Given the description of an element on the screen output the (x, y) to click on. 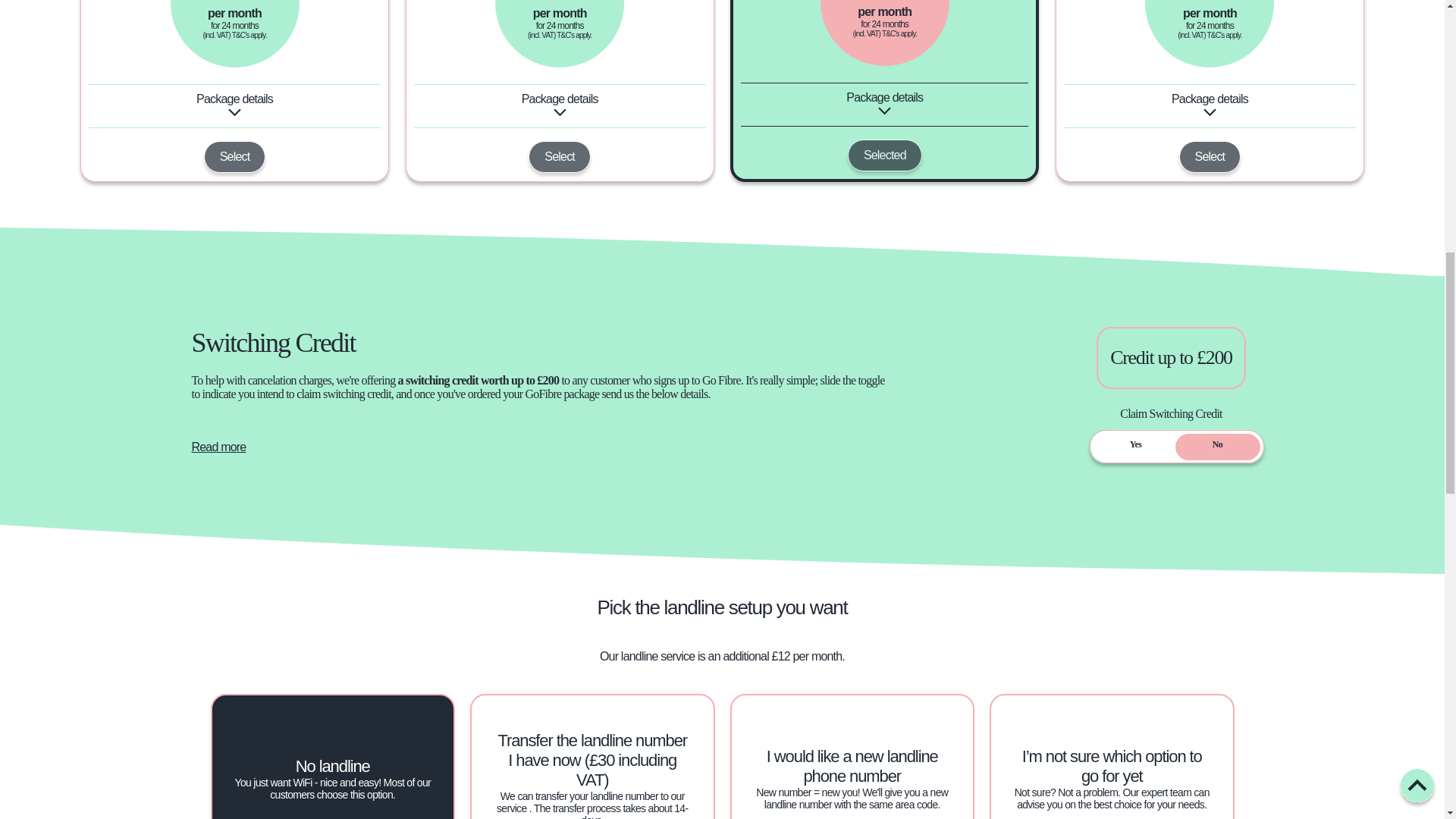
Select (234, 156)
Selected (884, 155)
Select (559, 156)
Select (1210, 156)
